Given the description of an element on the screen output the (x, y) to click on. 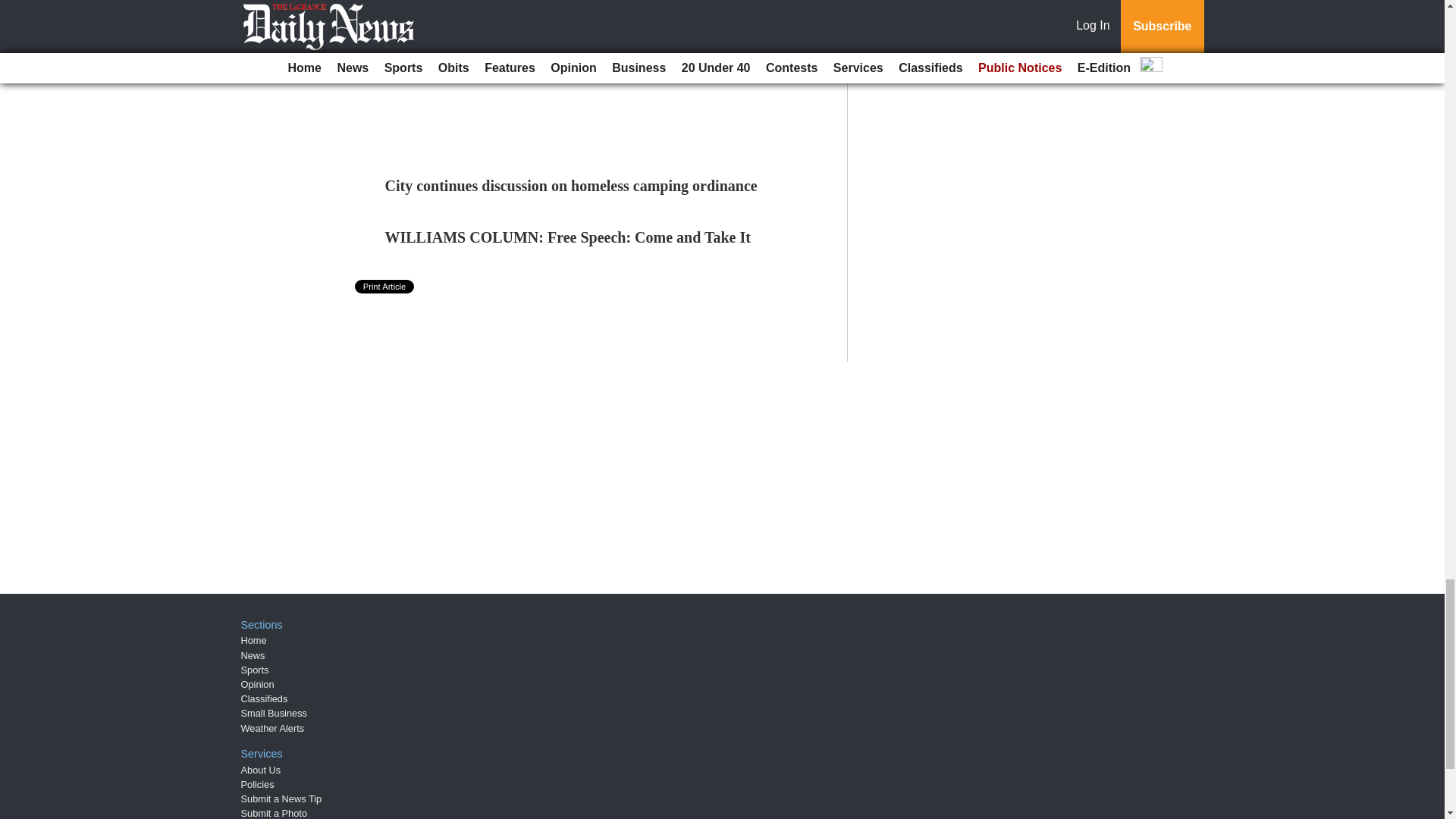
News (252, 655)
20 UNDER 40: Morgan Lynn (480, 50)
Print Article (384, 286)
City continues discussion on homeless camping ordinance (571, 185)
City continues discussion on homeless camping ordinance (571, 185)
Home (253, 640)
WILLIAMS COLUMN: Free Speech: Come and Take It (568, 237)
WILLIAMS COLUMN: Free Speech: Come and Take It (568, 237)
20 UNDER 40: Morgan Lynn (480, 50)
